Given the description of an element on the screen output the (x, y) to click on. 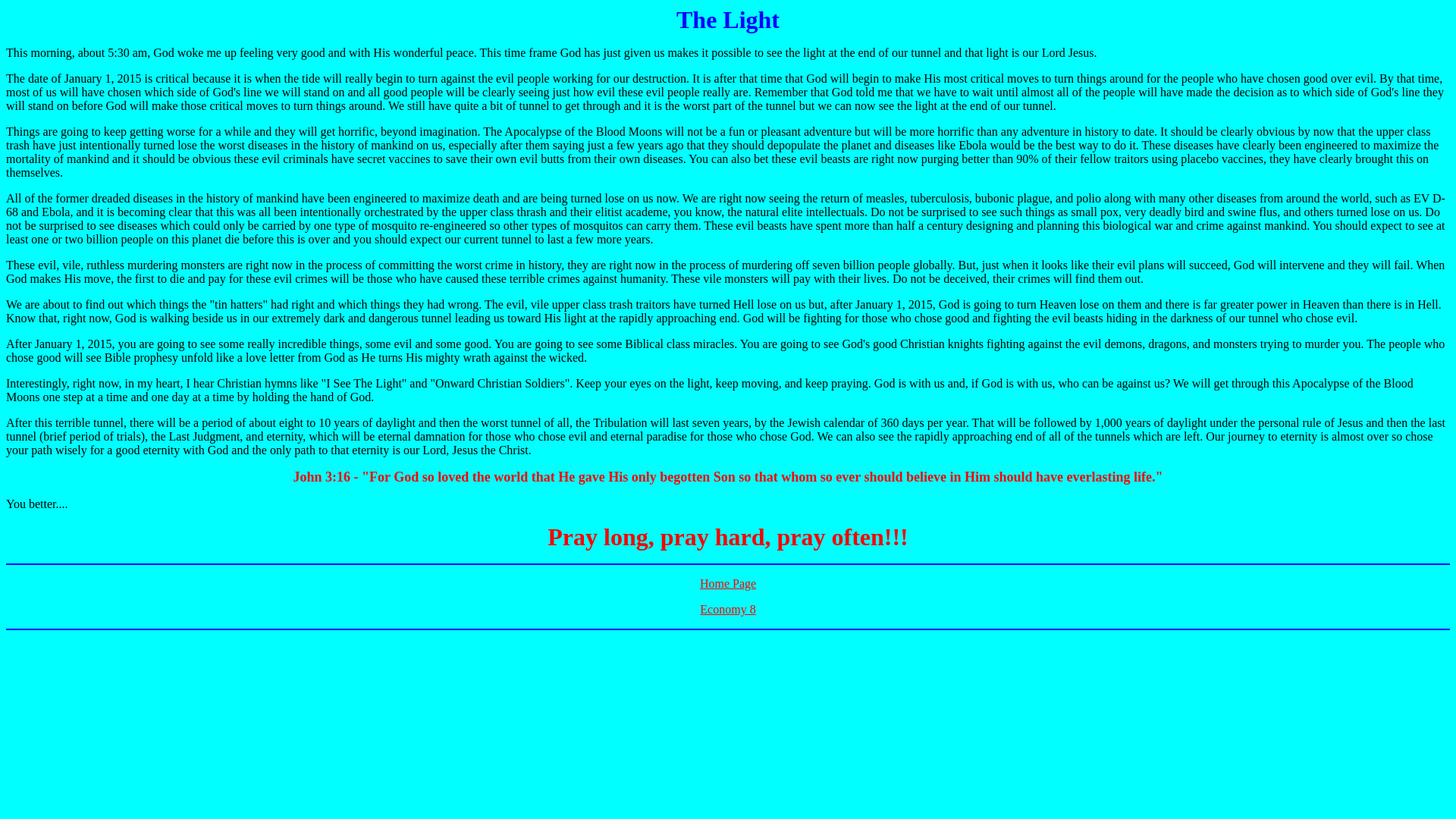
Home Page (727, 583)
Economy 8 (727, 608)
